Given the description of an element on the screen output the (x, y) to click on. 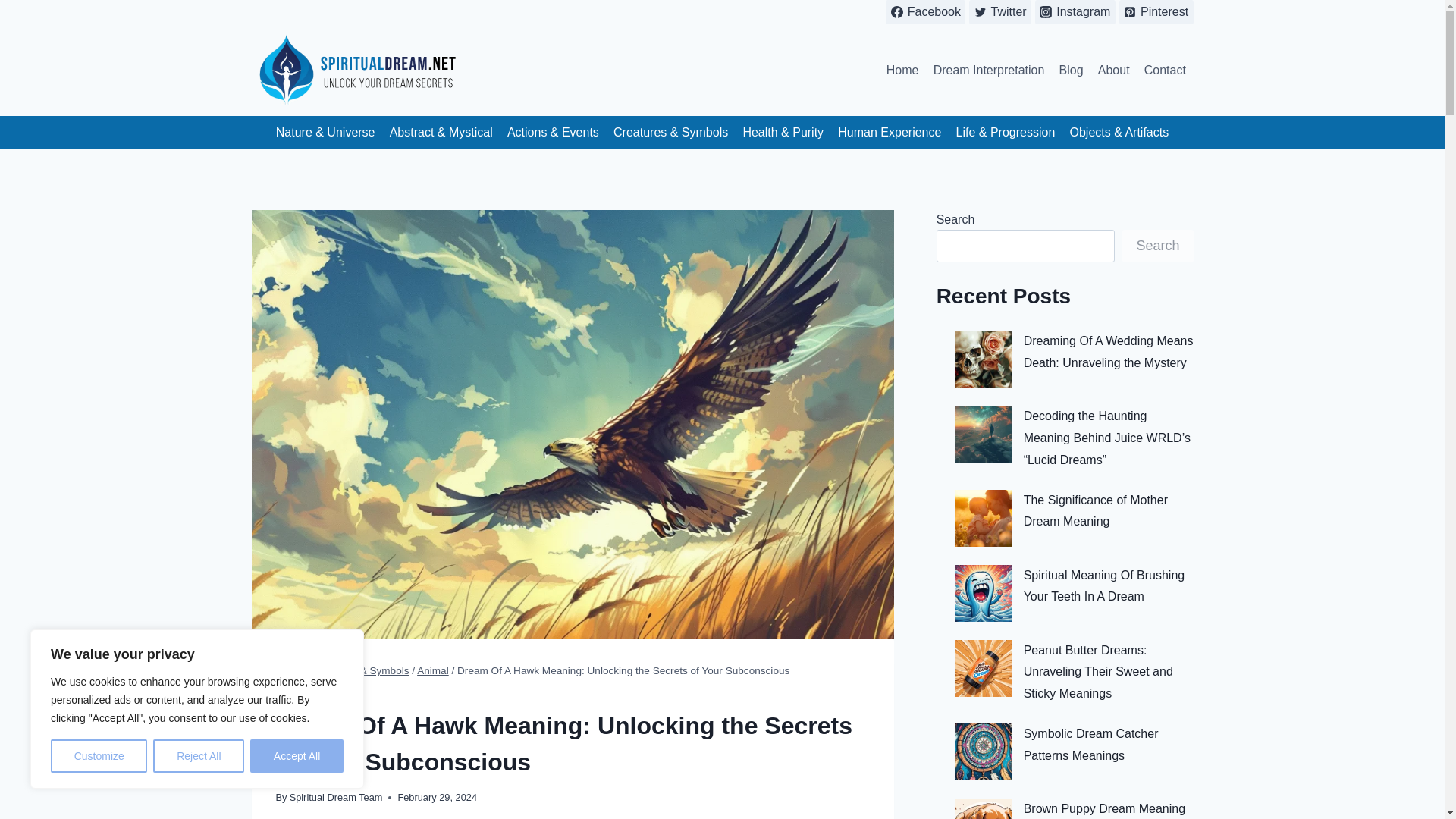
ANIMAL (293, 696)
Reject All (198, 756)
Twitter (999, 12)
Human Experience (890, 132)
Accept All (296, 756)
About (1113, 69)
Animal (432, 670)
Home (902, 69)
Instagram (1075, 12)
Facebook (925, 12)
Dream Interpretation (988, 69)
Contact (1164, 69)
Customize (98, 756)
Blog (1070, 69)
Home (289, 670)
